Given the description of an element on the screen output the (x, y) to click on. 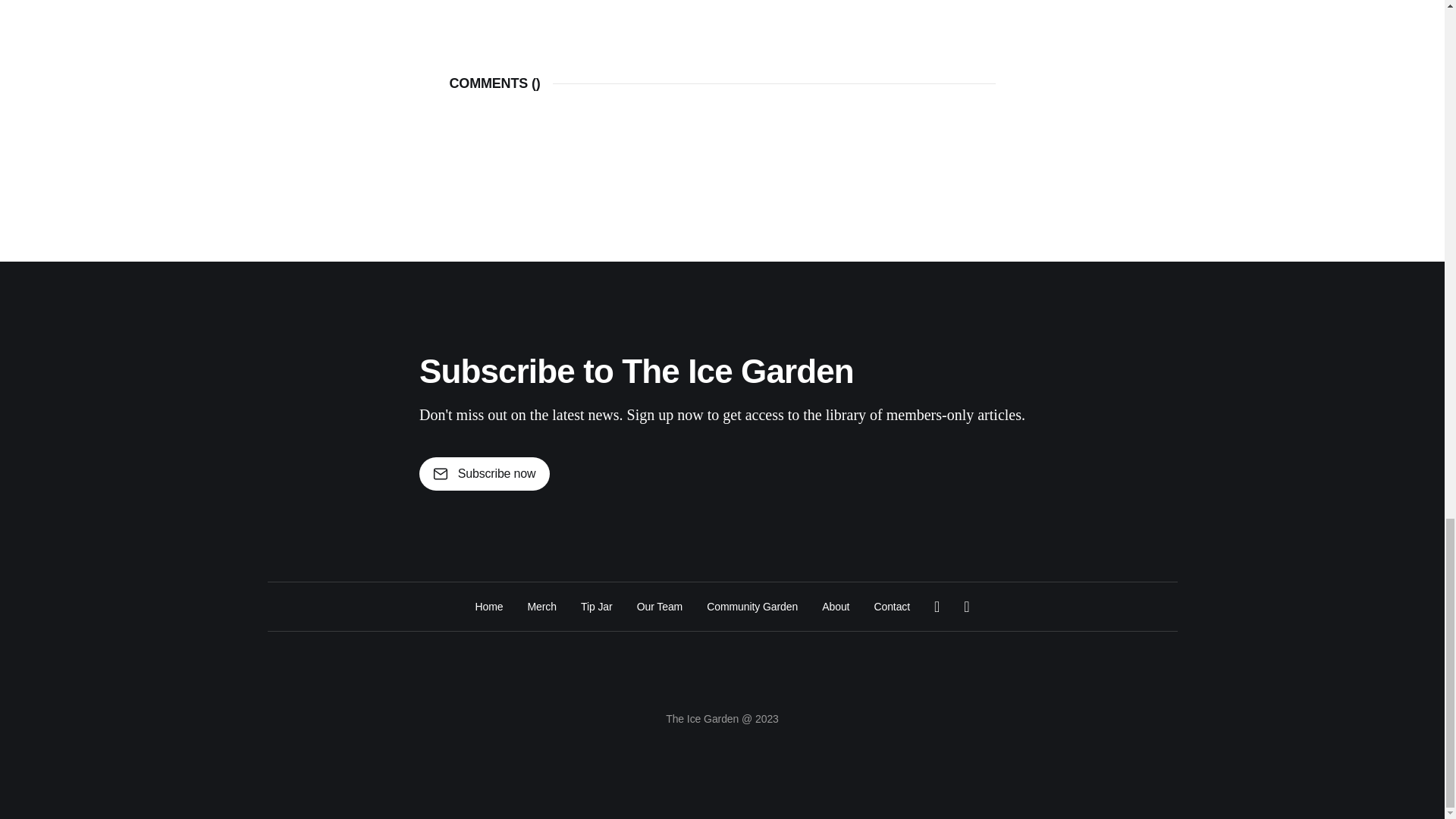
Home (488, 606)
Our Team (659, 606)
Community Garden (751, 606)
Merch (541, 606)
About (835, 606)
Contact (891, 606)
Tip Jar (596, 606)
Subscribe now (484, 473)
Twitter (936, 606)
Instagram (966, 606)
